Given the description of an element on the screen output the (x, y) to click on. 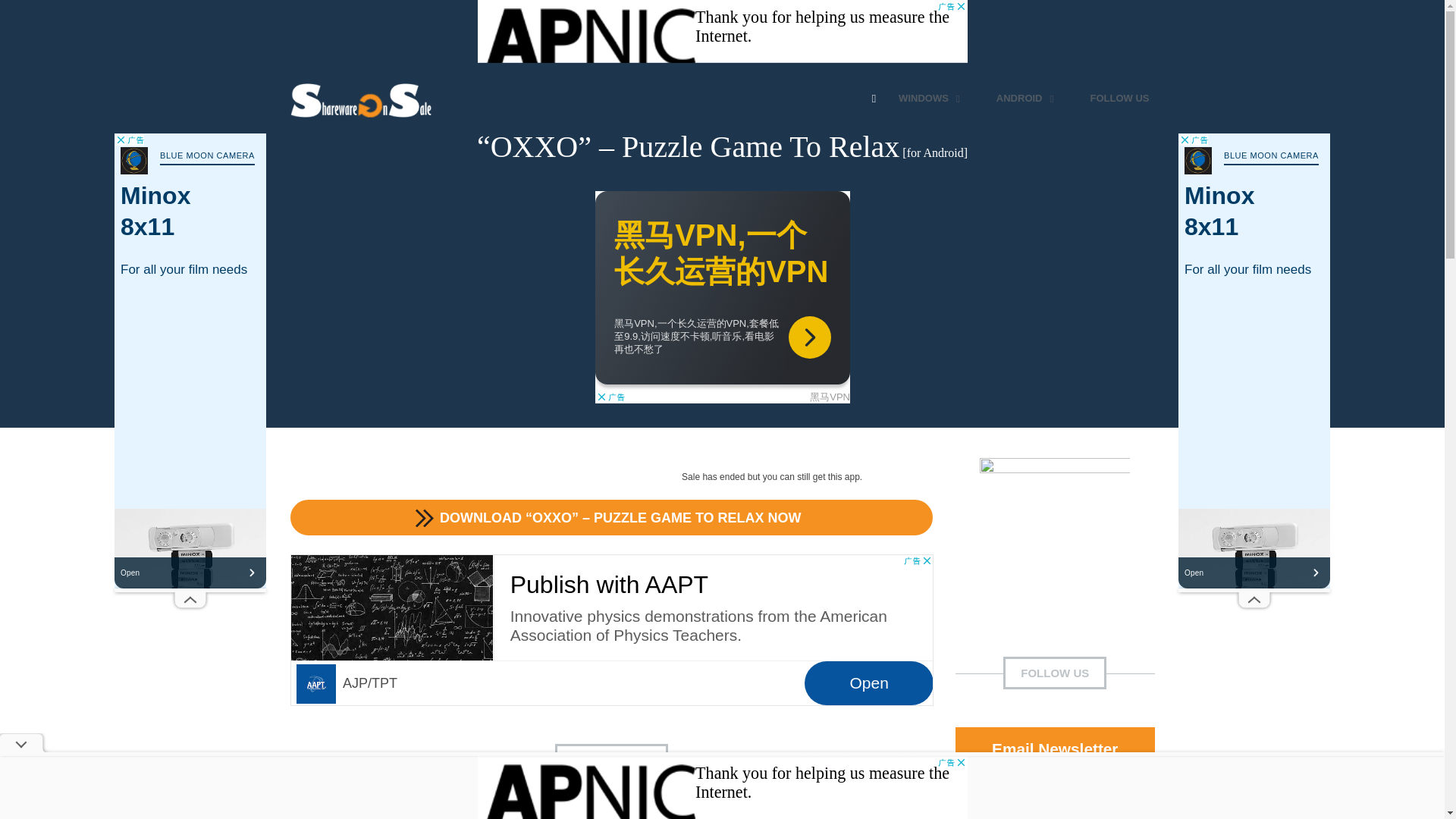
WINDOWS (930, 98)
Advertisement (402, 816)
Email Newsletter (1054, 748)
SharewareOnSale (364, 98)
Advertisement (721, 33)
ANDROID (1026, 98)
Advertisement (721, 296)
Advertisement (611, 629)
Facebook (1054, 800)
FOLLOW US (1120, 98)
